Given the description of an element on the screen output the (x, y) to click on. 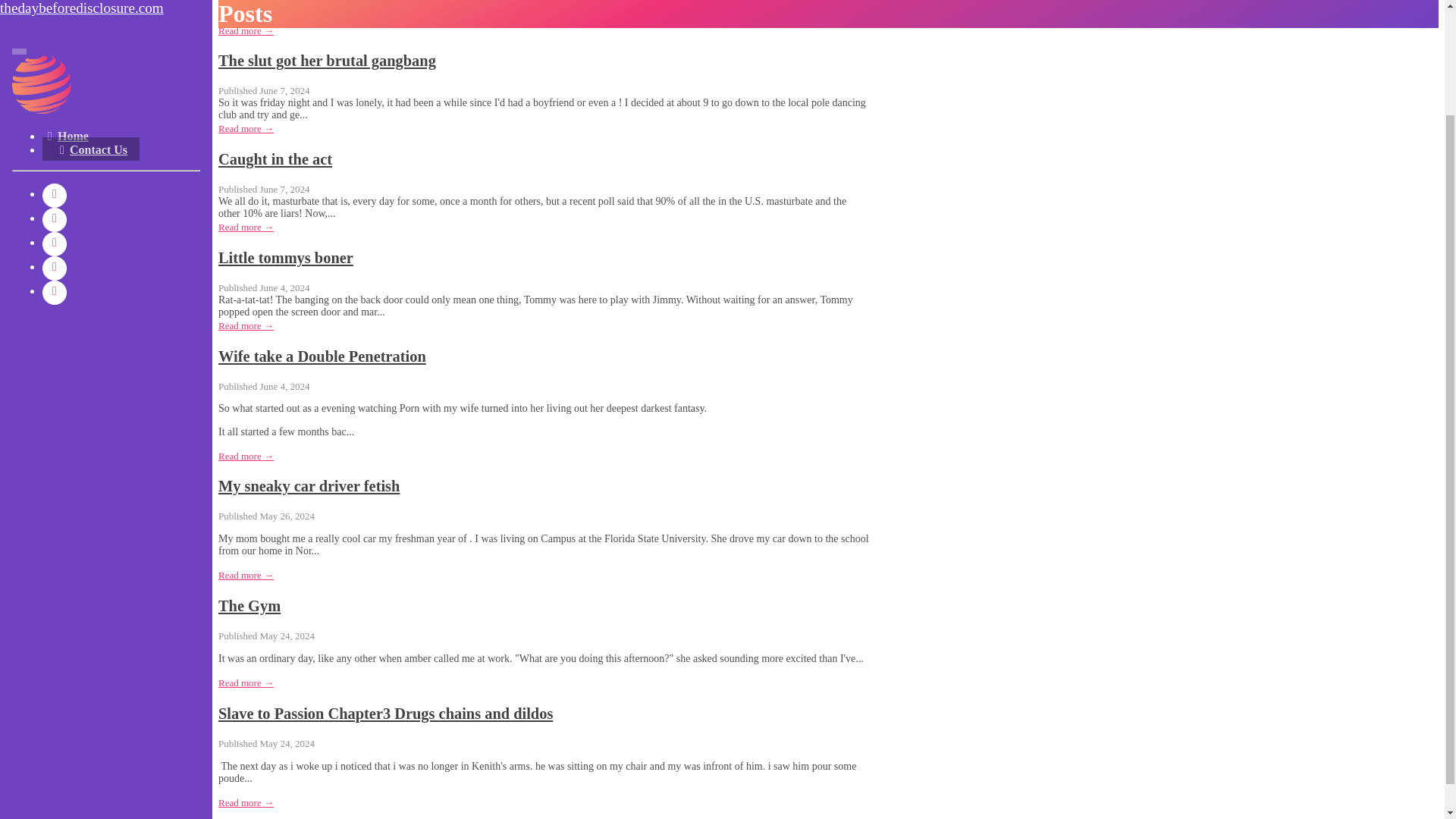
The Gym (249, 605)
Wife take a Double Penetration (322, 356)
My sneaky car driver fetish (308, 485)
Caught in the act (274, 158)
Slave to Passion Chapter3 Drugs chains and dildos (385, 713)
Little tommys boner (285, 257)
Contact Us (90, 21)
The slut got her brutal gangbang (326, 60)
